Given the description of an element on the screen output the (x, y) to click on. 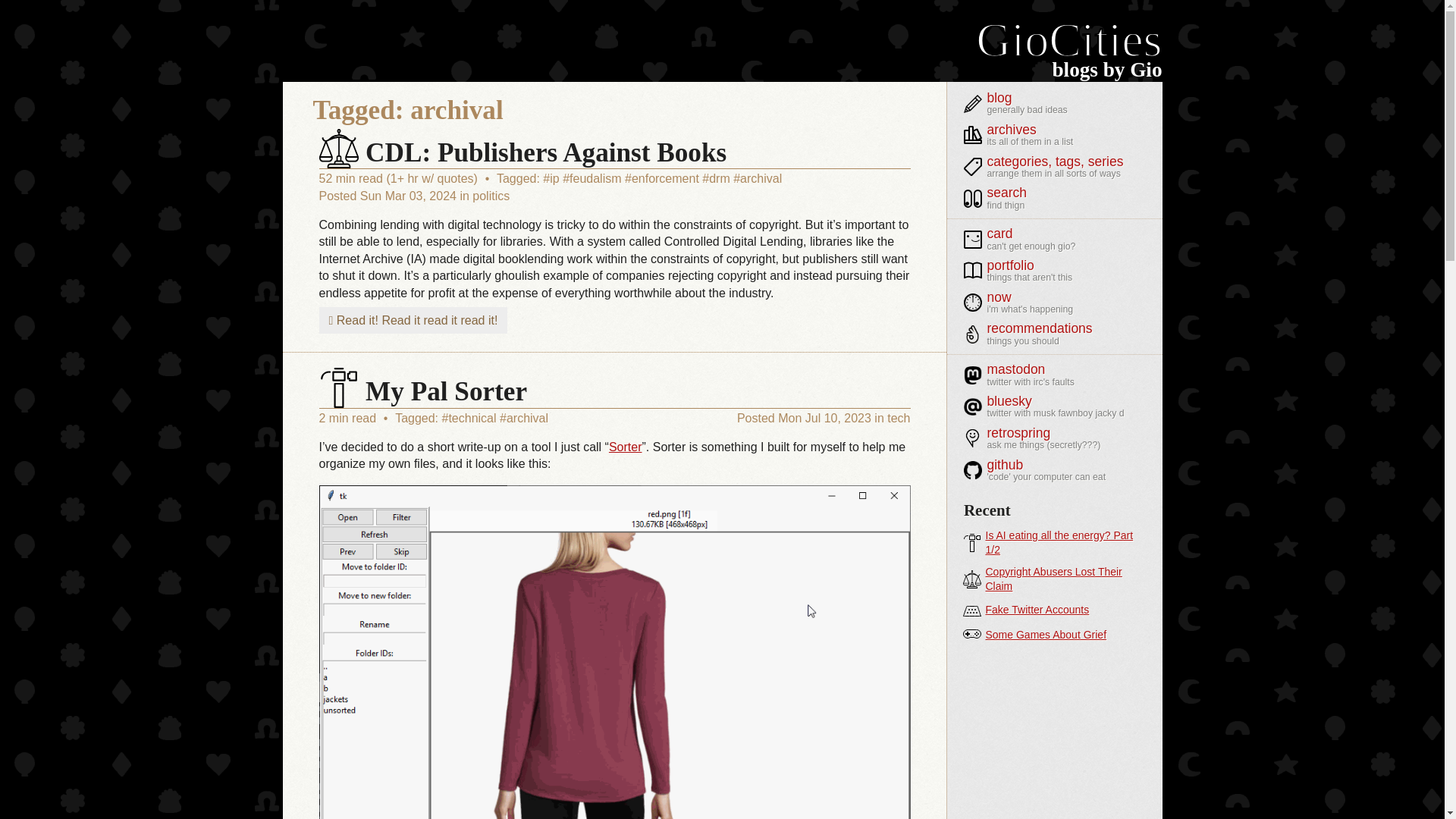
18780 words at 250 wpm (399, 178)
My Pal Sorter (422, 391)
Sorter (625, 446)
CDL: Publishers Against Books (522, 152)
politics (490, 195)
660 words at 250 wpm (348, 418)
